Given the description of an element on the screen output the (x, y) to click on. 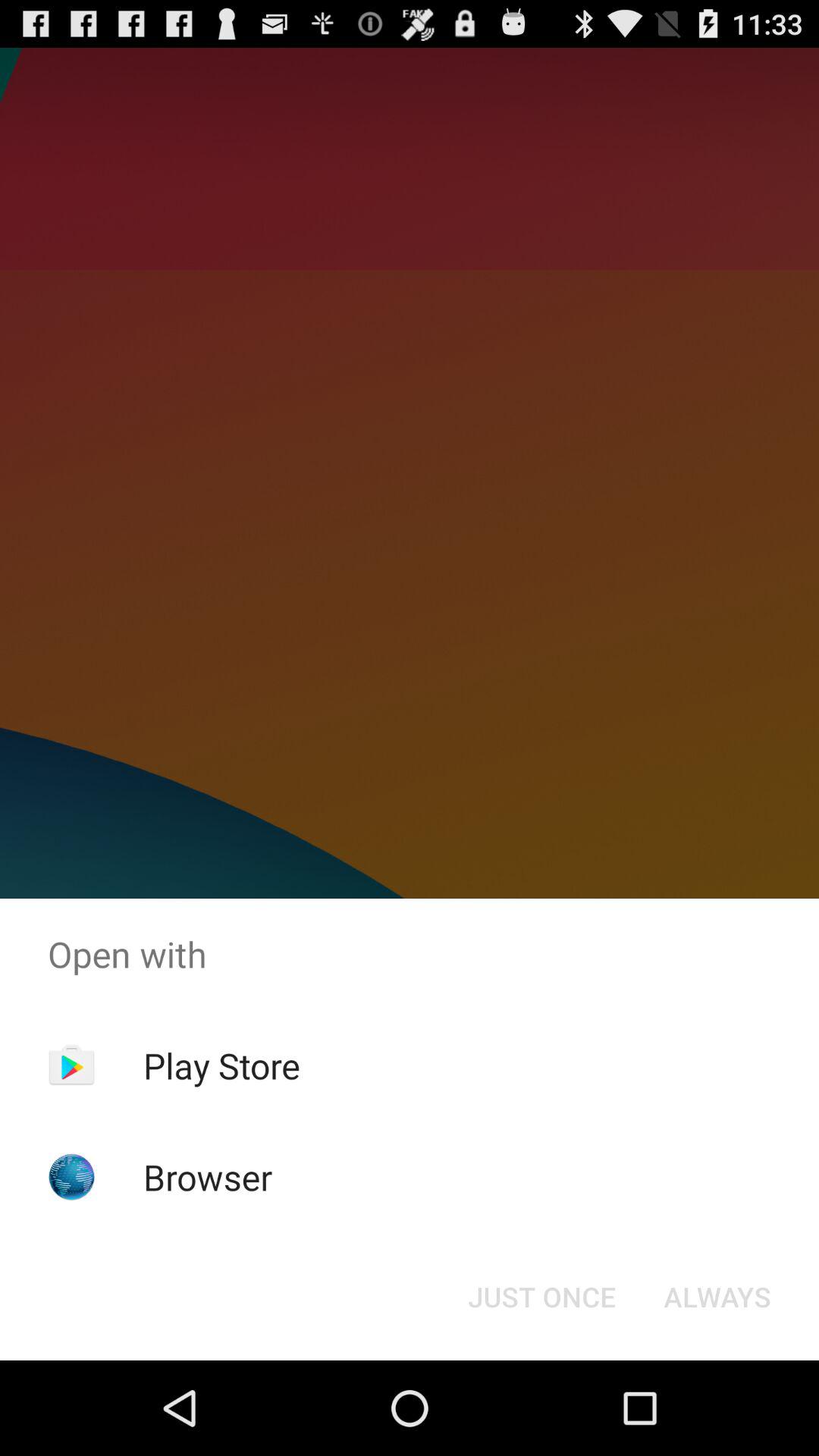
open the icon below the play store app (207, 1176)
